Given the description of an element on the screen output the (x, y) to click on. 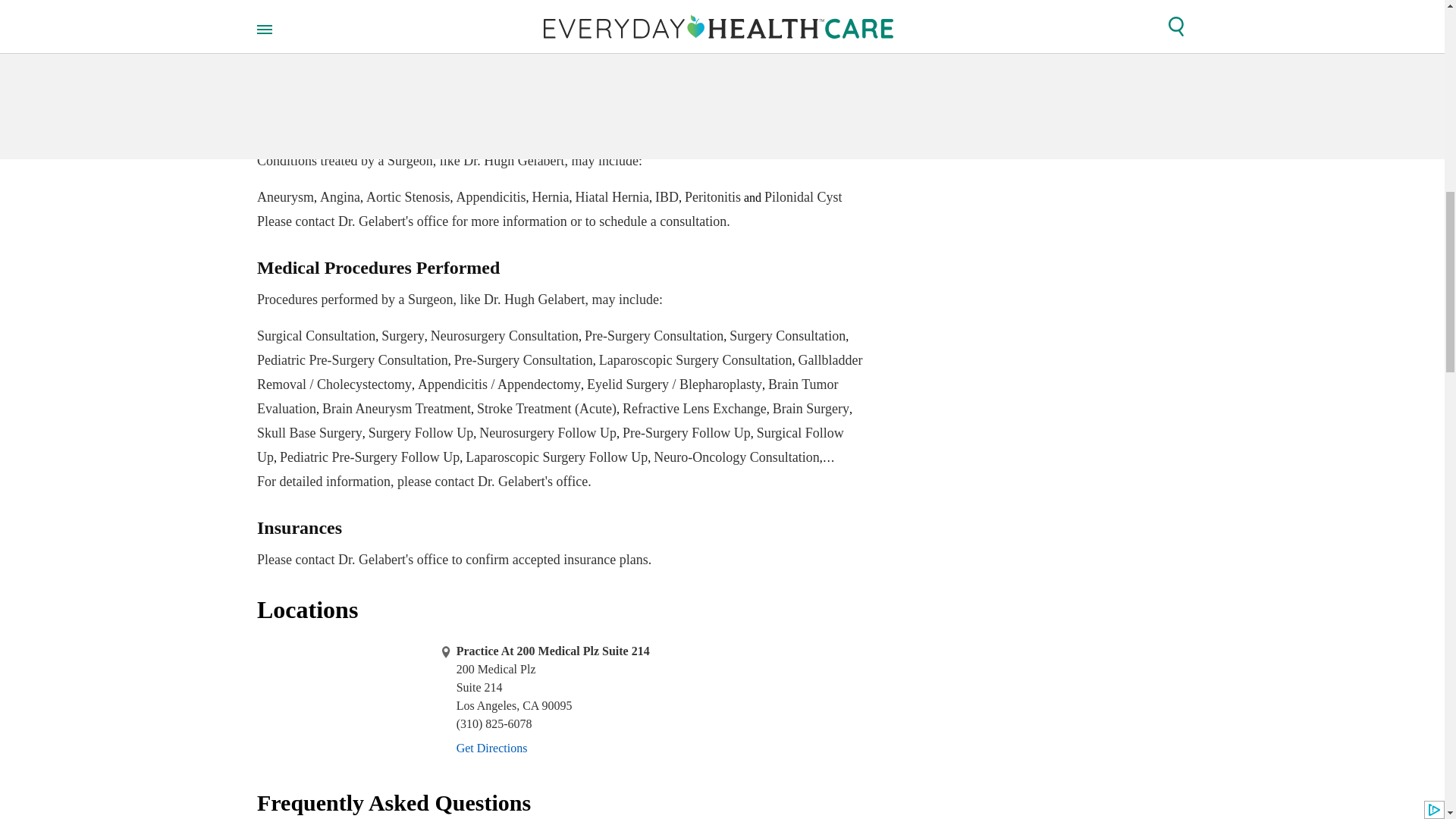
Pediatric Pre-Surgery Consultation (352, 359)
Pre-Surgery Follow Up (687, 432)
Aneurysm (285, 196)
Aortic Stenosis (407, 196)
Pediatric Pre-Surgery Follow Up (369, 457)
Brain Tumor Evaluation (547, 396)
Hernia (560, 67)
Pre-Surgery Consultation (550, 196)
Laparoscopic Surgery Consultation (523, 359)
